Given the description of an element on the screen output the (x, y) to click on. 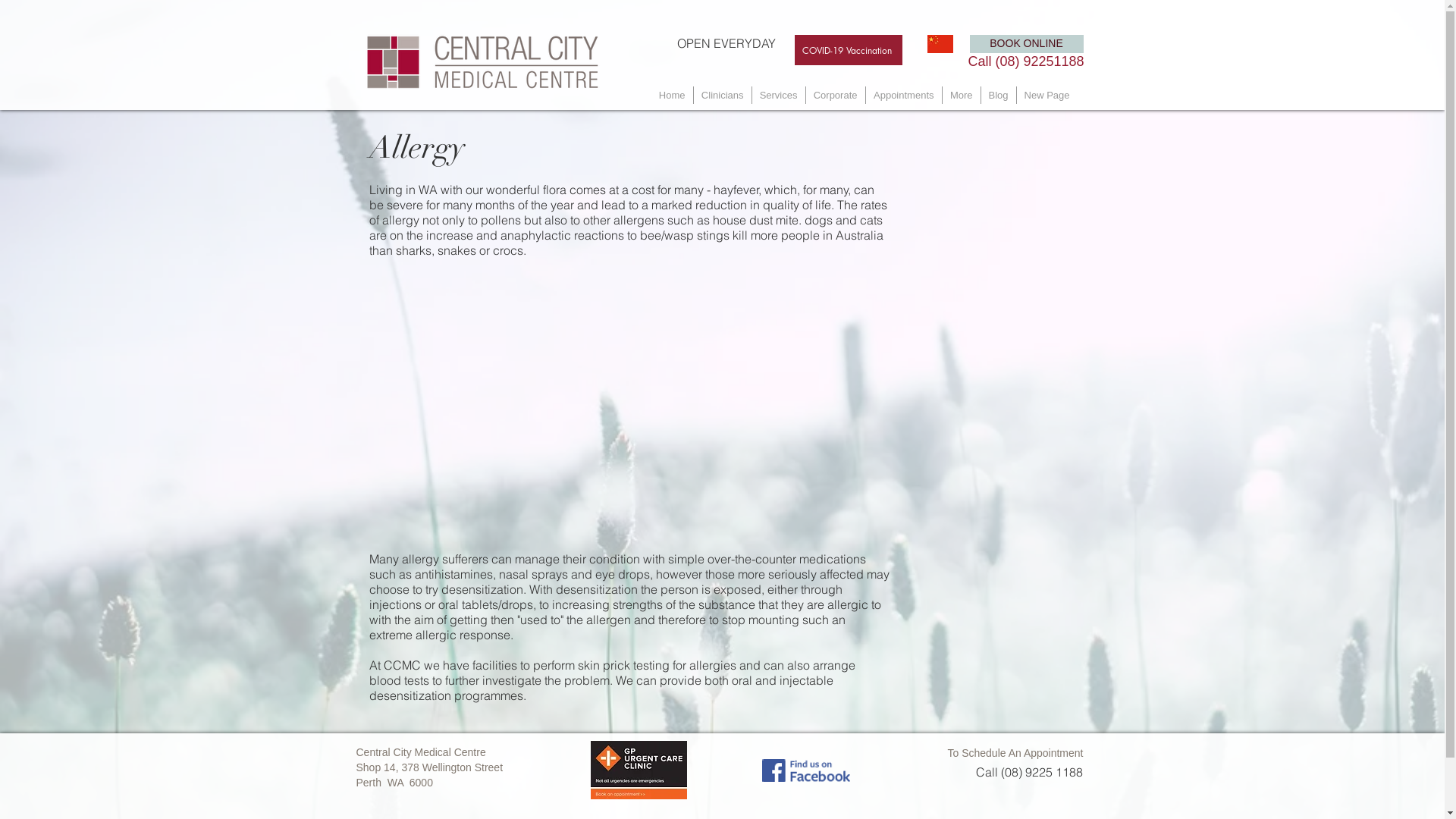
New Page Element type: text (1046, 94)
Central City Medical Centre Logo Element type: hover (481, 62)
Appointments Element type: text (903, 94)
BOOK ONLINE Element type: text (1025, 43)
Blog Element type: text (998, 94)
Home Element type: text (671, 94)
COVID-19 Vaccination Element type: text (848, 49)
Facebook Like Element type: hover (889, 768)
